Given the description of an element on the screen output the (x, y) to click on. 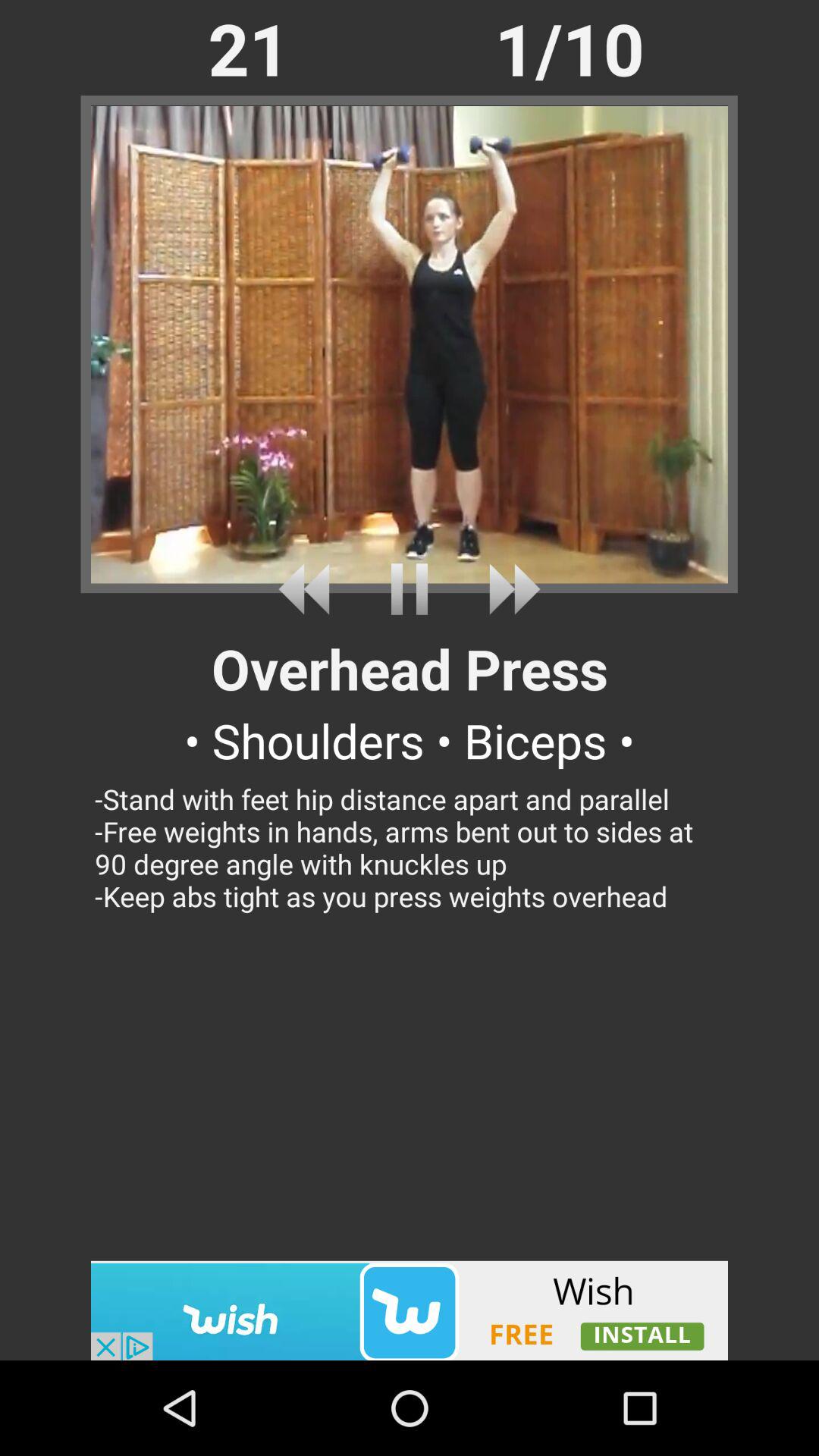
go to next (508, 589)
